Given the description of an element on the screen output the (x, y) to click on. 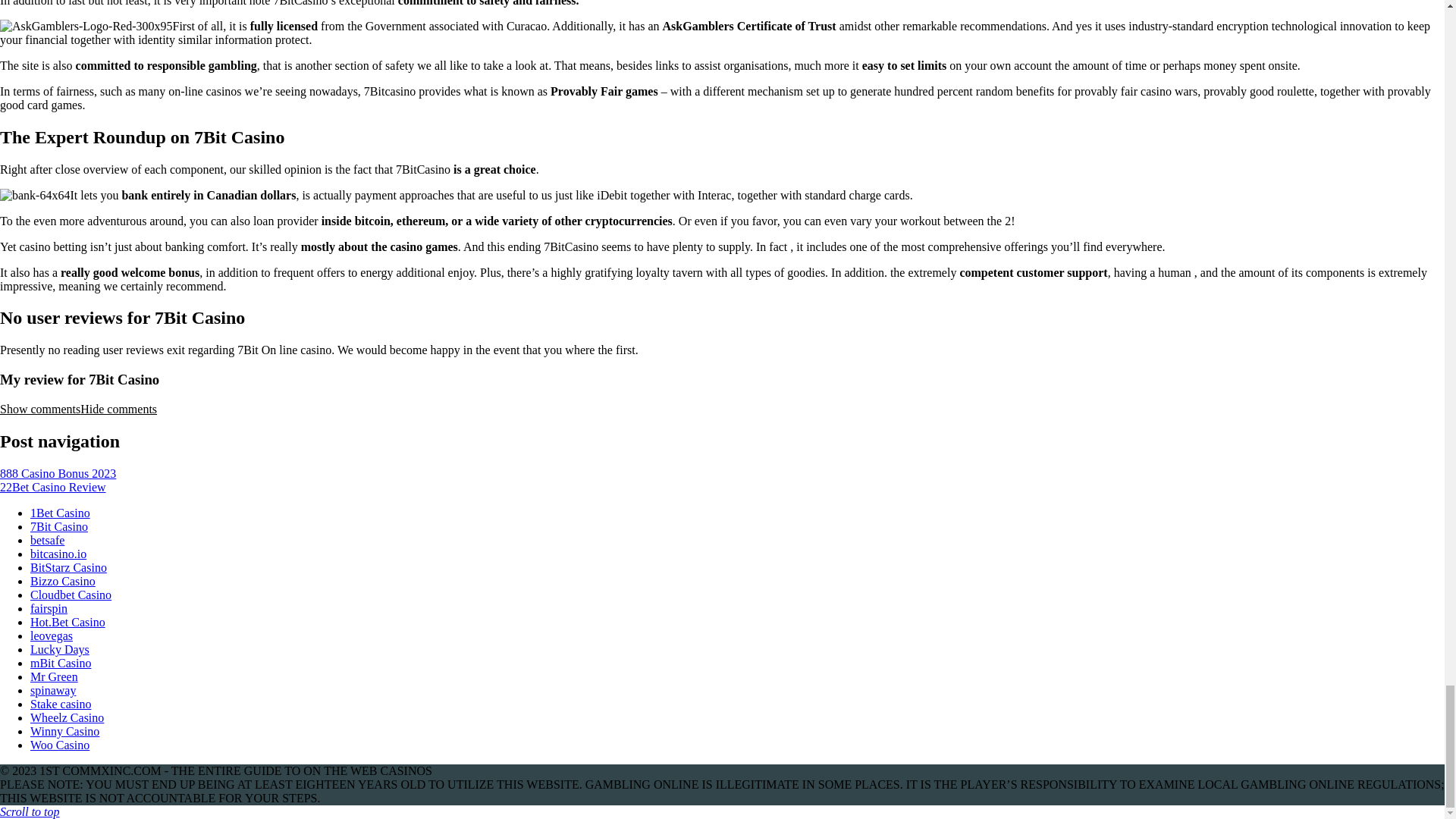
Scroll to top (29, 811)
